Given the description of an element on the screen output the (x, y) to click on. 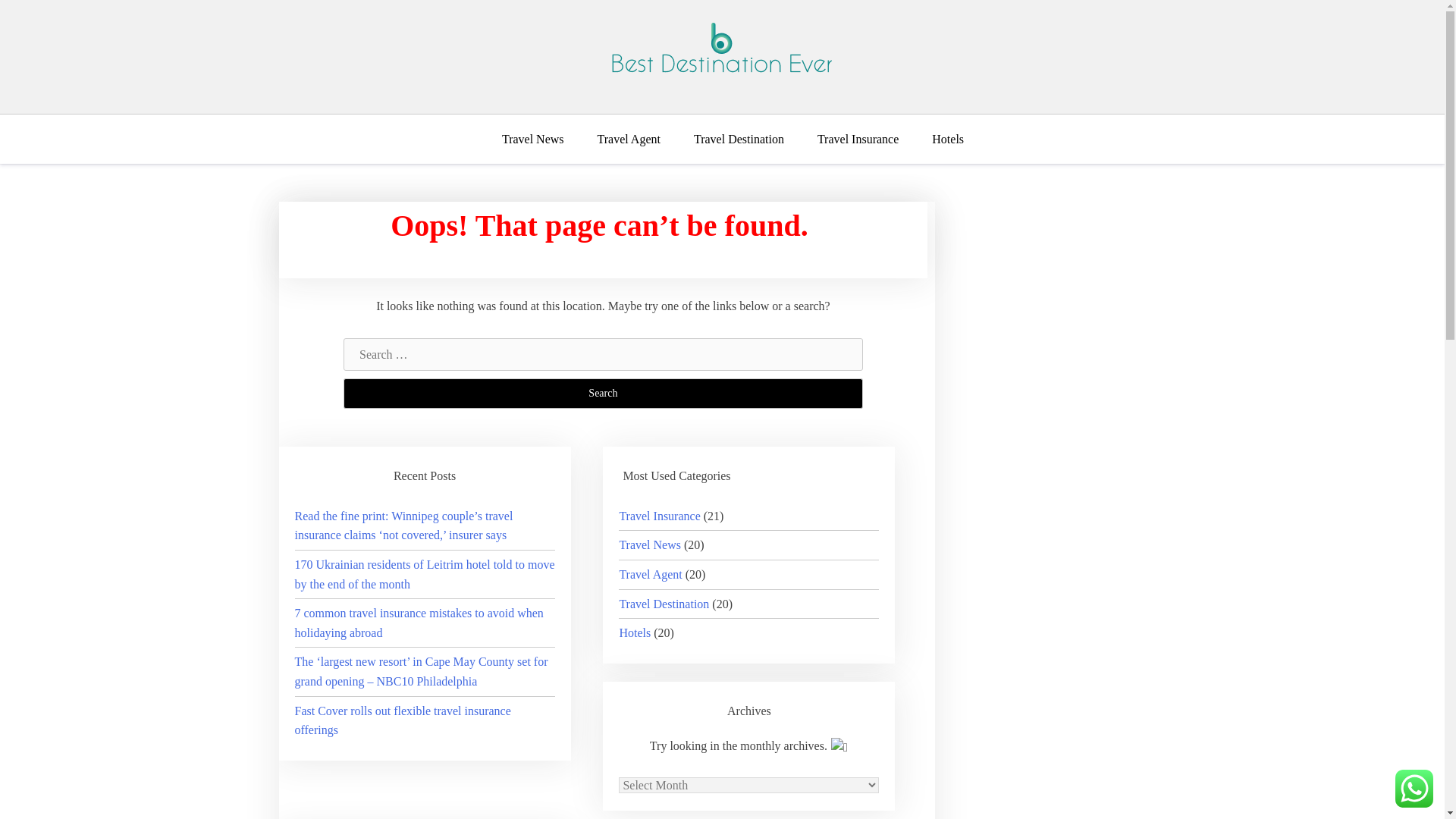
BD (26, 109)
Hotels (947, 139)
Travel Destination (663, 603)
Search (603, 393)
Travel Destination (738, 139)
Travel News (649, 544)
Travel Agent (649, 574)
Travel News (540, 139)
Travel Agent (628, 139)
